Given the description of an element on the screen output the (x, y) to click on. 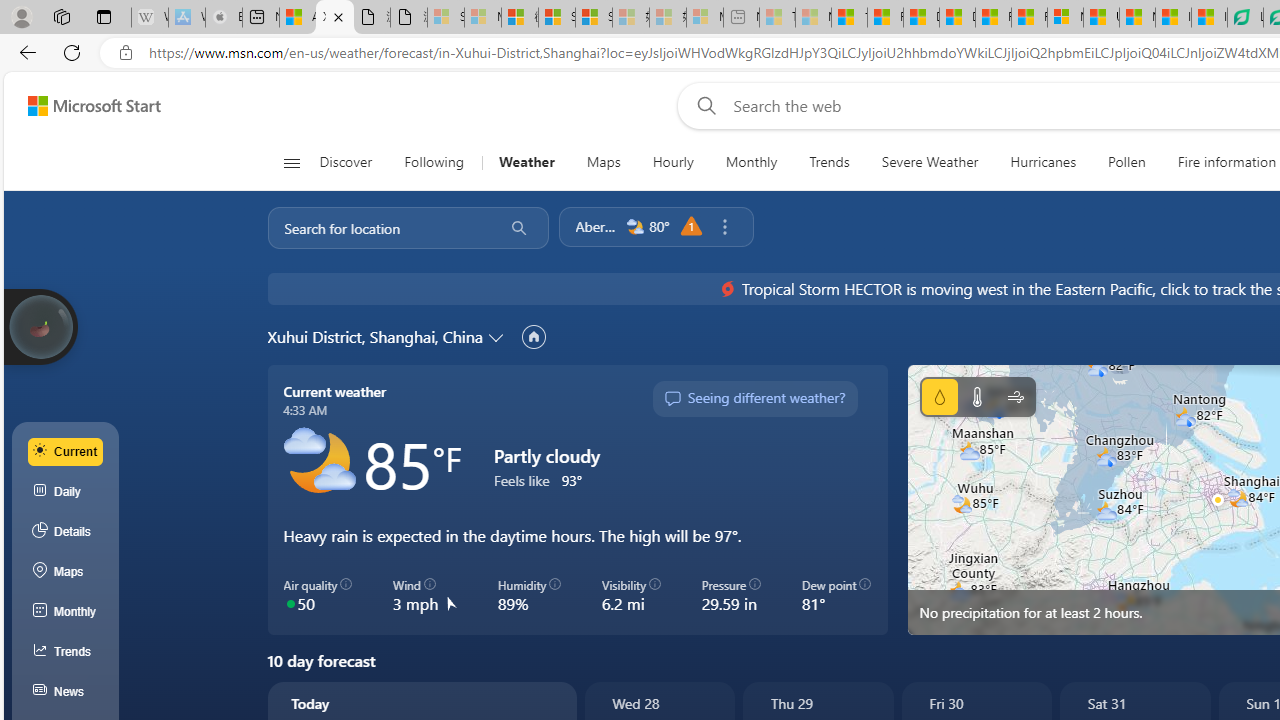
Aberdeen (596, 226)
Weather (526, 162)
Daily (65, 492)
Marine life - MSN - Sleeping (813, 17)
Weather (526, 162)
Hurricanes (1043, 162)
Maps (603, 162)
